Given the description of an element on the screen output the (x, y) to click on. 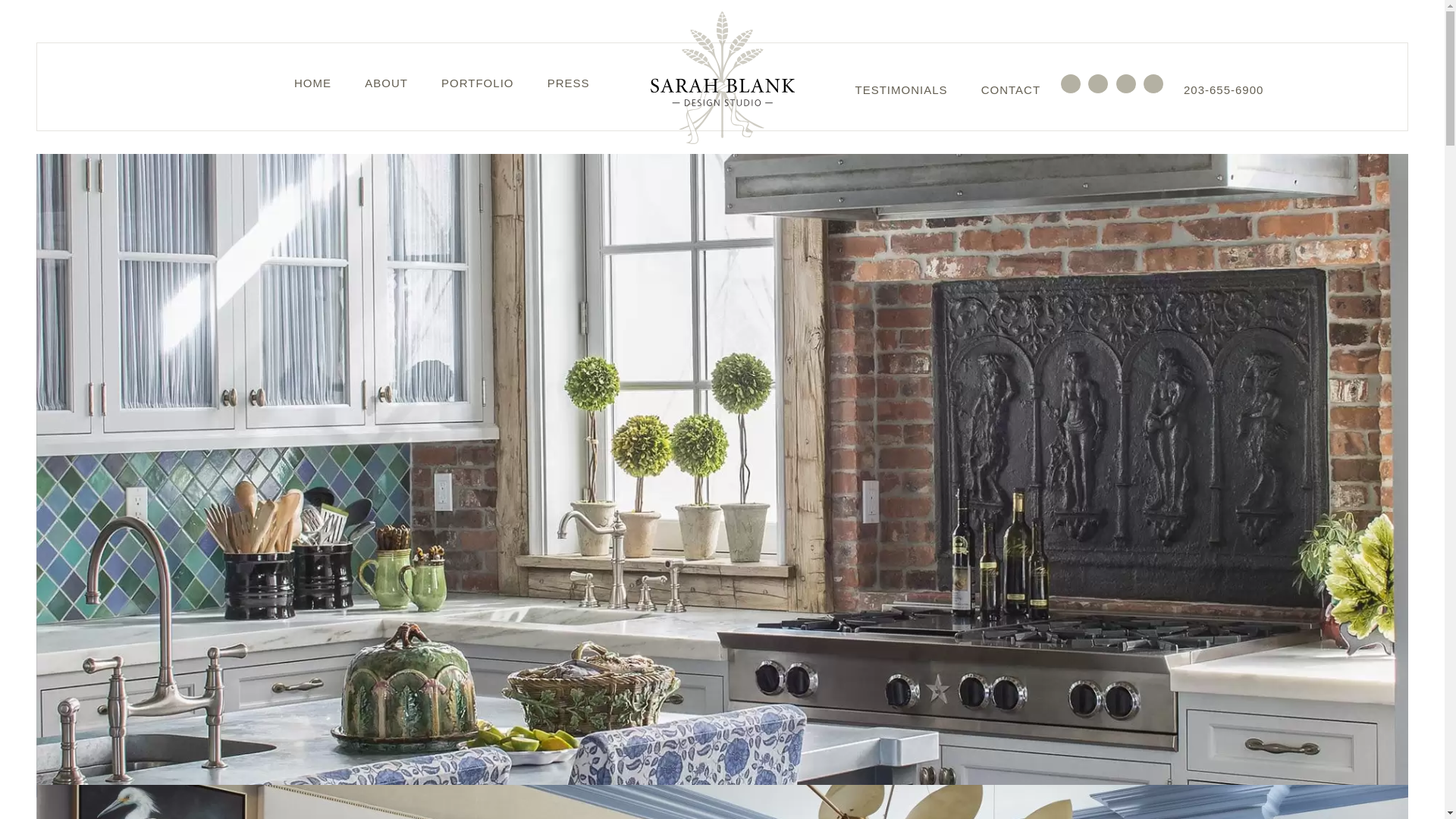
TESTIMONIALS (901, 91)
HOME (312, 85)
ABOUT (386, 85)
PRESS (568, 85)
203-655-6900 (1223, 91)
PORTFOLIO (477, 85)
CONTACT (1011, 91)
